Given the description of an element on the screen output the (x, y) to click on. 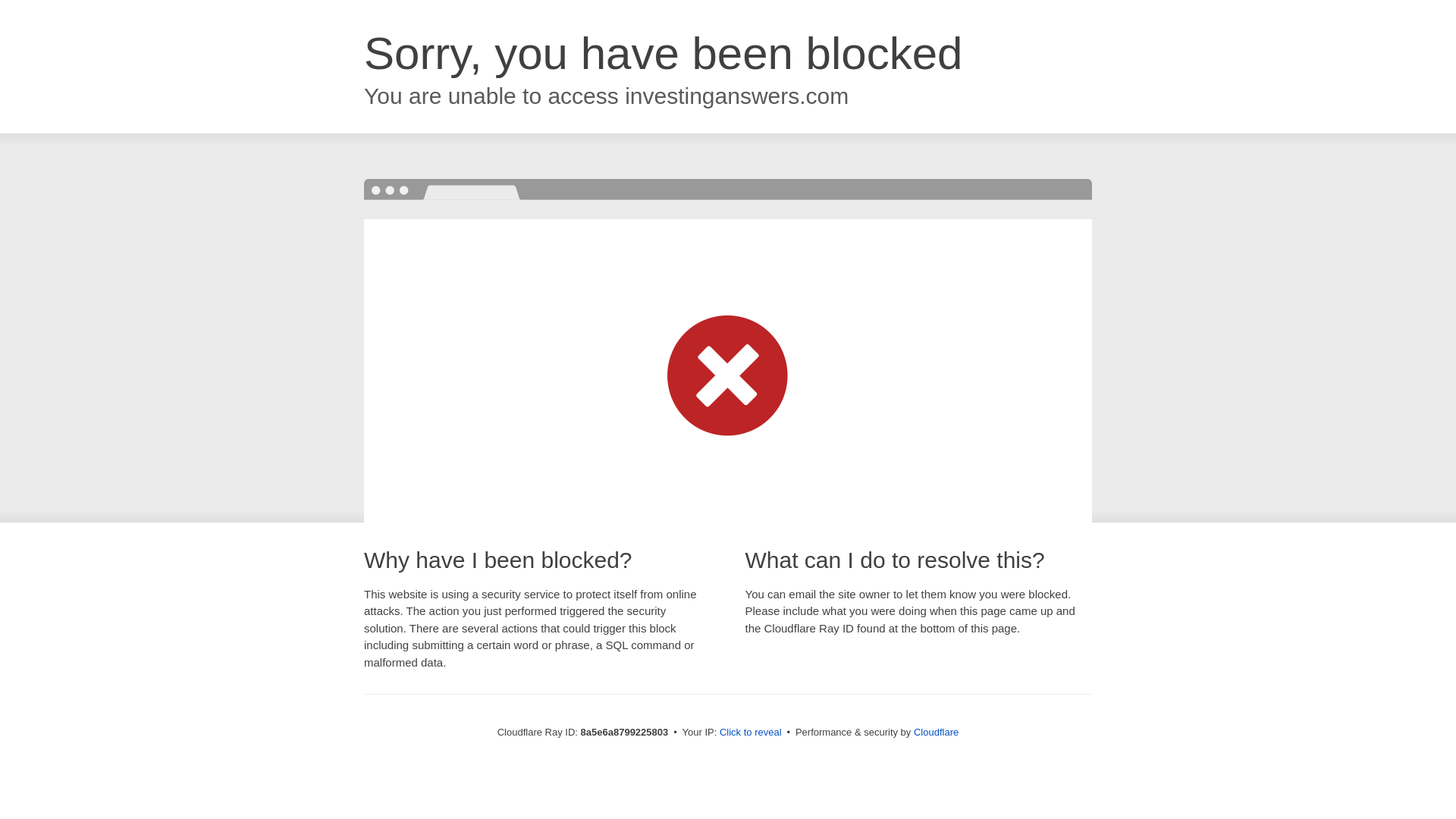
Click to reveal (750, 732)
Cloudflare (936, 731)
